Given the description of an element on the screen output the (x, y) to click on. 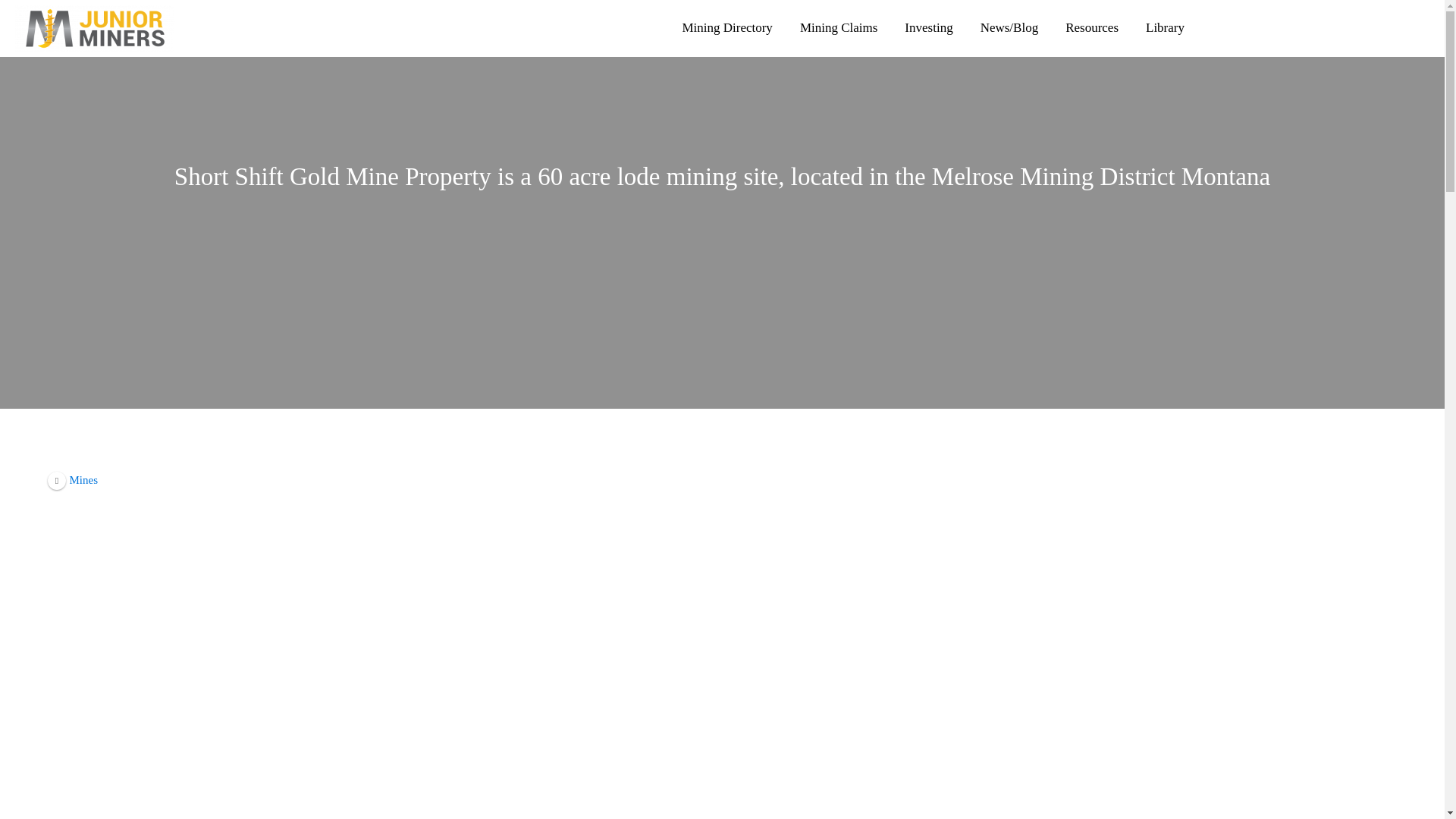
Mining Directory (727, 28)
Mines (72, 479)
Investing (928, 28)
Mining Claims (838, 28)
